Given the description of an element on the screen output the (x, y) to click on. 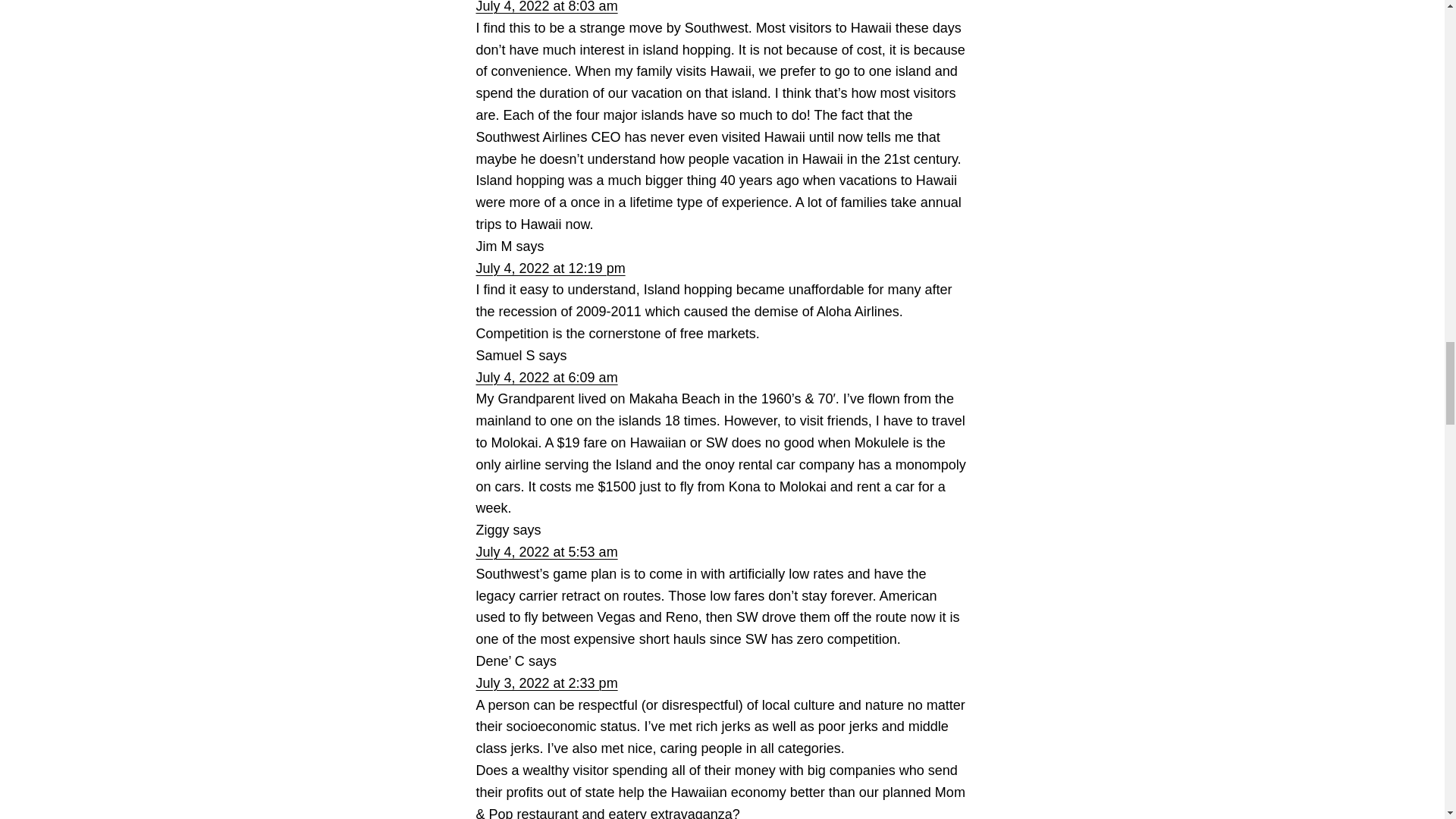
July 3, 2022 at 2:33 pm (546, 683)
July 4, 2022 at 6:09 am (546, 377)
July 4, 2022 at 8:03 am (546, 6)
July 4, 2022 at 5:53 am (546, 551)
July 4, 2022 at 12:19 pm (551, 268)
